Given the description of an element on the screen output the (x, y) to click on. 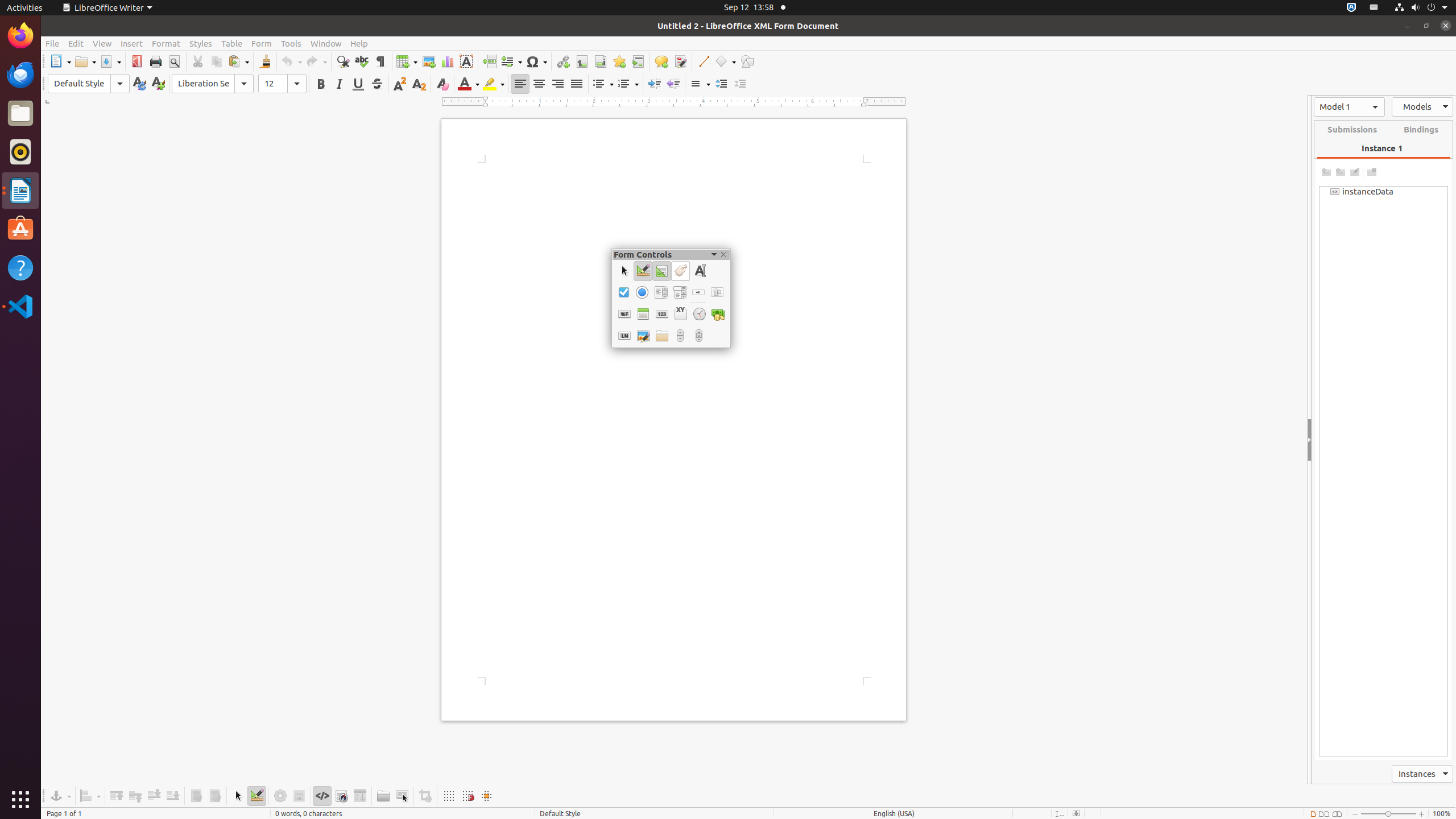
Toggle Design Mode Element type: toggle-button (642, 270)
Ubuntu Software Element type: push-button (20, 229)
:1.72/StatusNotifierItem Element type: menu (1350, 7)
LibreOffice Writer Element type: menu (106, 7)
Form Design Element type: toggle-button (661, 270)
